Given the description of an element on the screen output the (x, y) to click on. 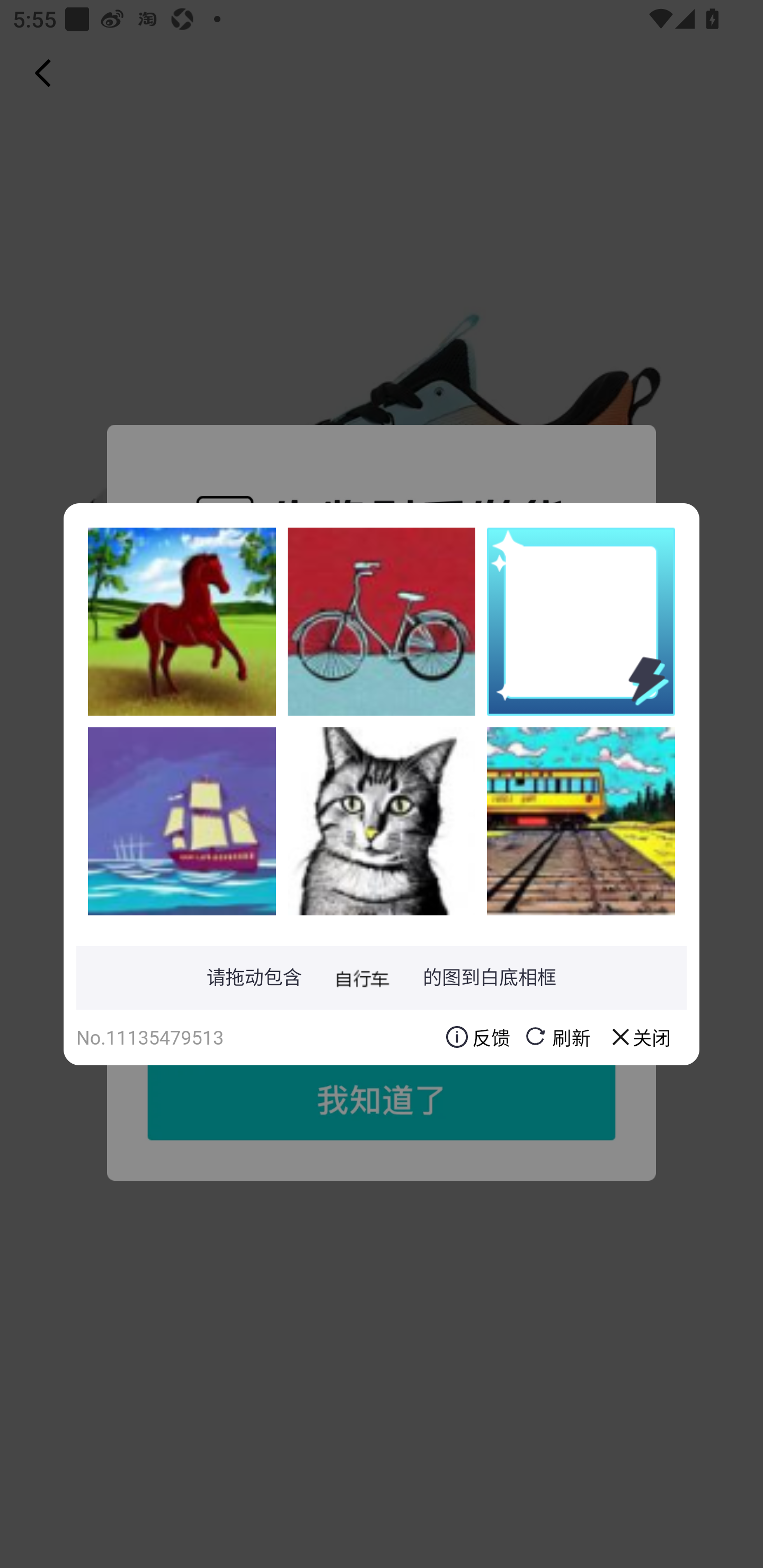
UVYaNqgn9evVNVCHDR0sy5YultnBM2X7tlh16w2ybX (381, 820)
IKLueu4X (580, 820)
